Given the description of an element on the screen output the (x, y) to click on. 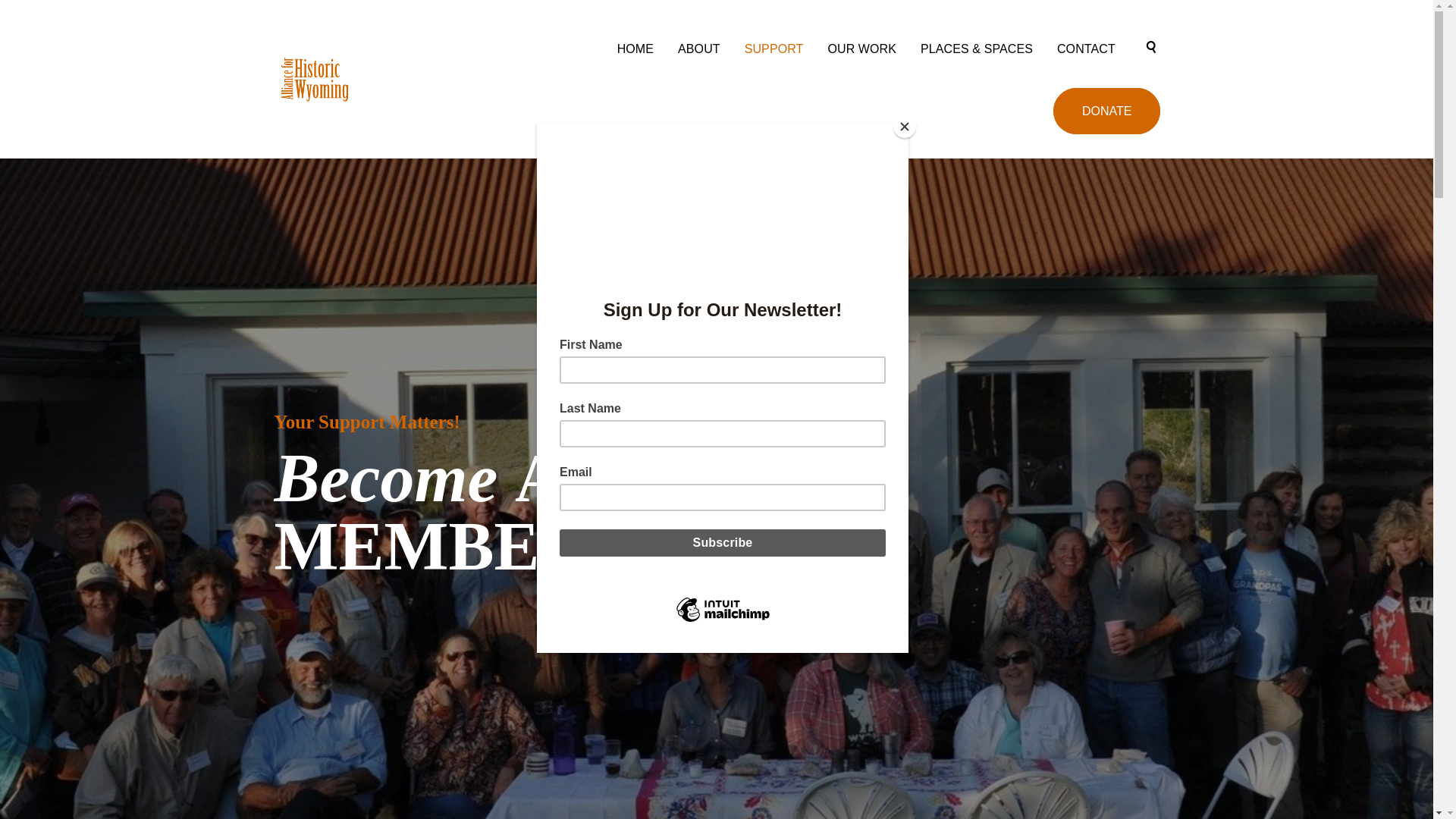
HOME (635, 49)
CONTACT (1085, 49)
DONATE (1106, 111)
OUR WORK (861, 49)
ABOUT (698, 49)
SUPPORT (773, 49)
